Given the description of an element on the screen output the (x, y) to click on. 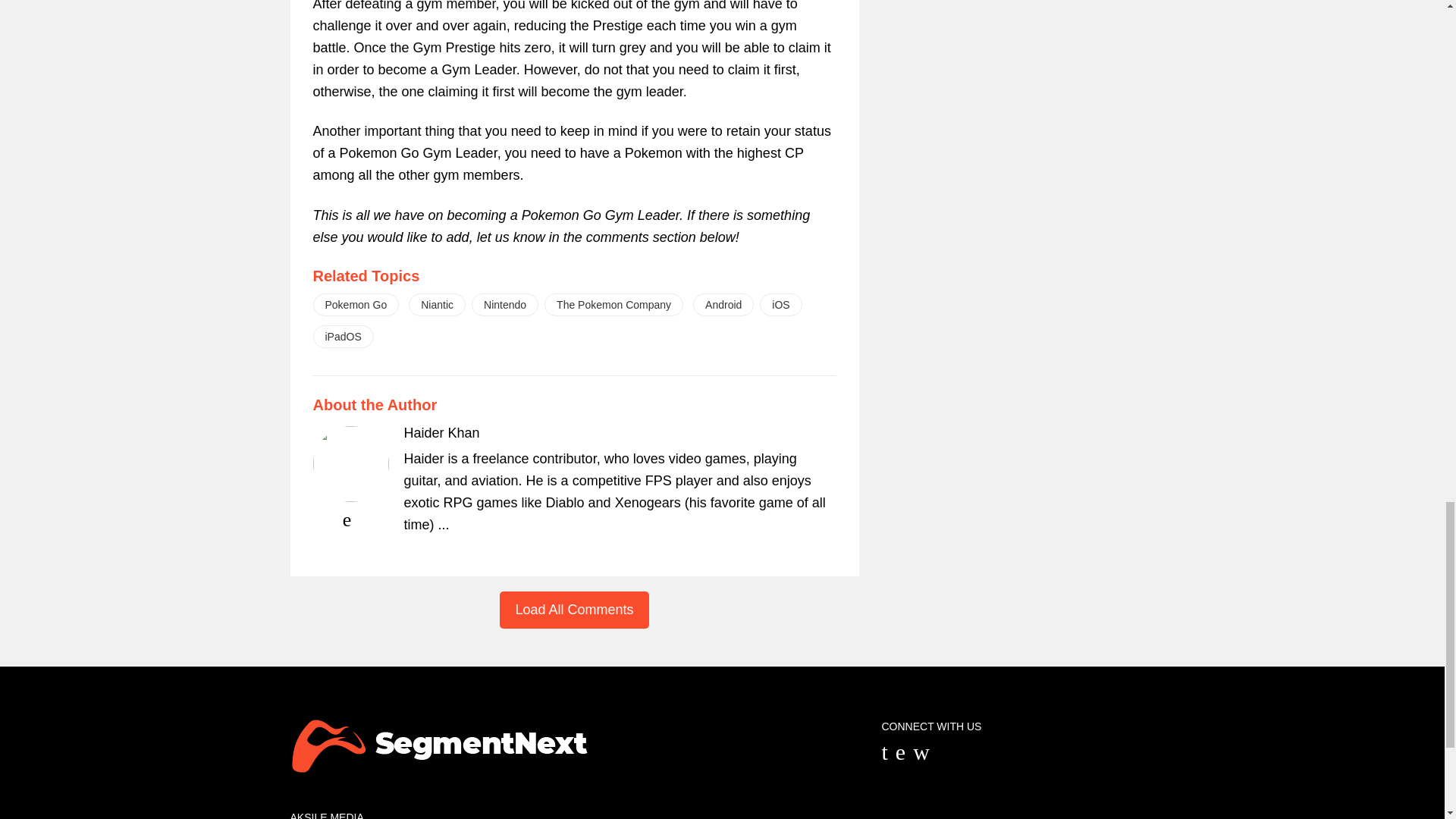
Android (723, 304)
Nintendo (504, 304)
iPadOS (342, 336)
Pokemon Go (355, 304)
Niantic (437, 304)
Haider Khan (441, 432)
The Pokemon Company (613, 304)
iOS (781, 304)
